Given the description of an element on the screen output the (x, y) to click on. 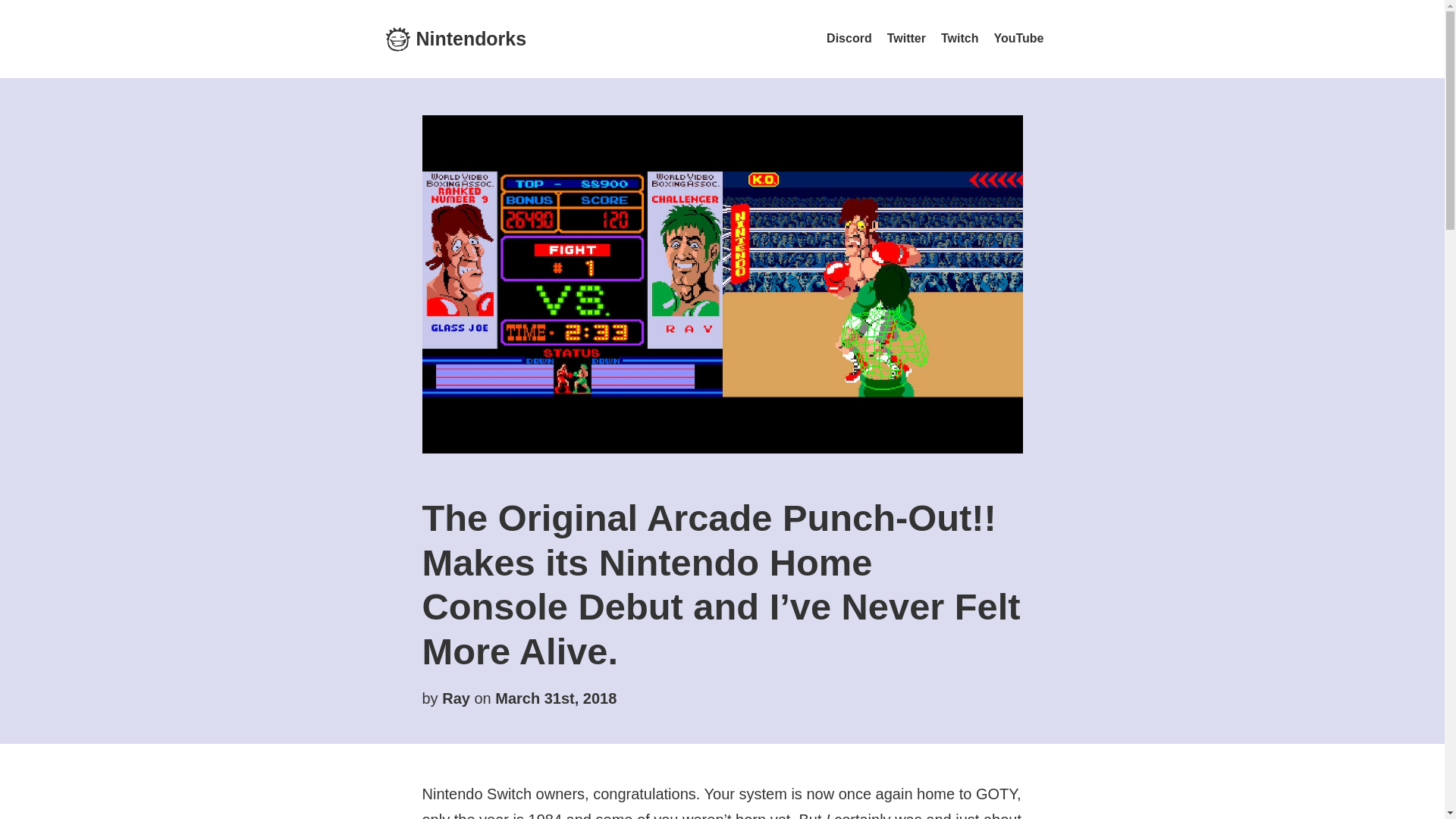
YouTube (1017, 38)
Twitch (959, 38)
Twitter (906, 38)
Discord (849, 38)
